Given the description of an element on the screen output the (x, y) to click on. 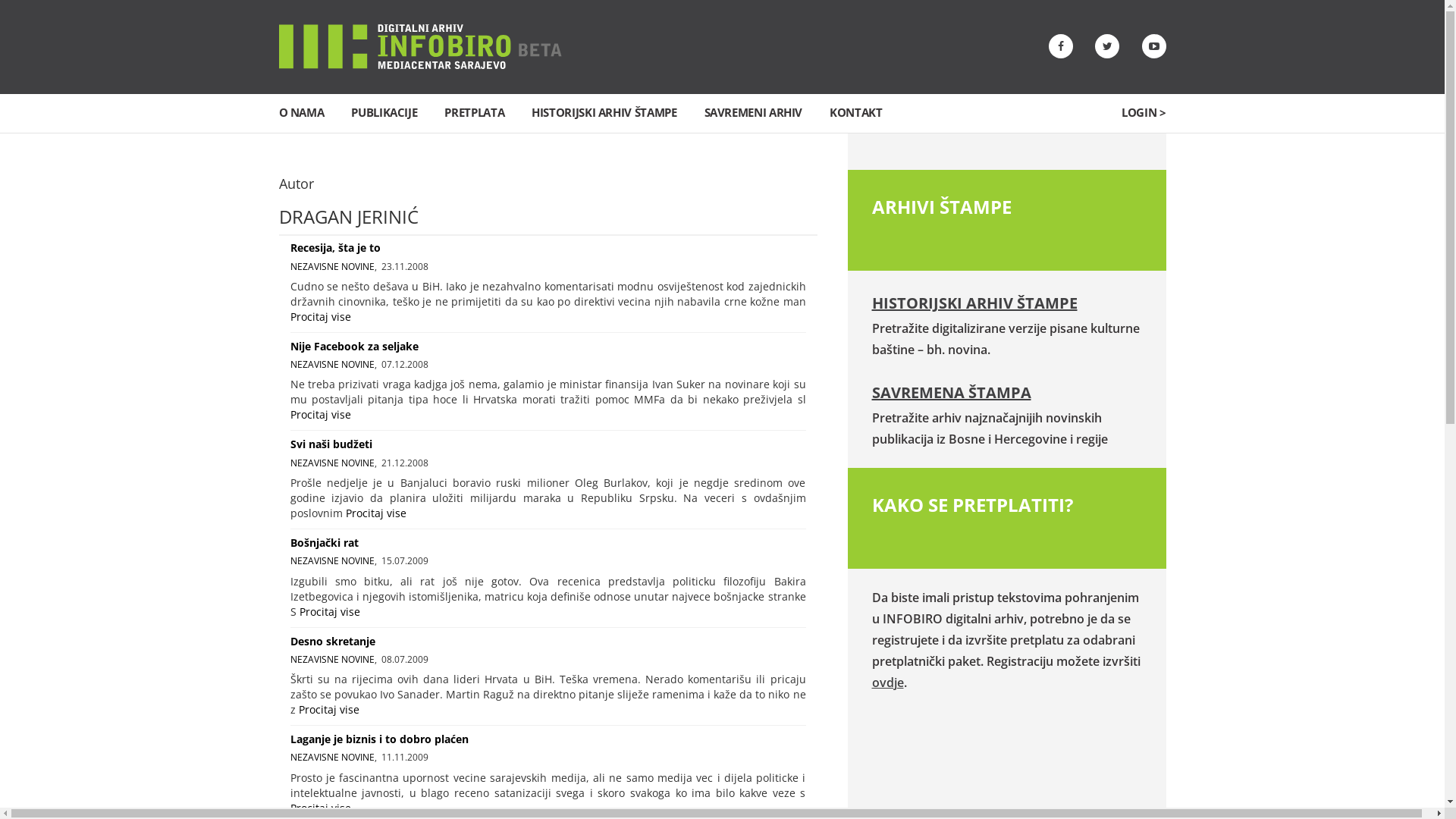
ovdje Element type: text (887, 682)
NEZAVISNE NOVINE Element type: text (331, 363)
KONTAKT Element type: text (855, 111)
Procitaj vise Element type: text (319, 414)
Youtube Element type: hover (1154, 46)
Infobiro mediacenter Sarajevo Element type: hover (420, 45)
Procitaj vise Element type: text (319, 807)
Twitter Element type: hover (1107, 46)
O NAMA Element type: text (301, 111)
Nije Facebook za seljake Element type: text (353, 345)
Facebook Element type: hover (1060, 46)
NEZAVISNE NOVINE Element type: text (331, 560)
PRETPLATA Element type: text (474, 111)
PUBLIKACIJE Element type: text (384, 111)
NEZAVISNE NOVINE Element type: text (331, 756)
NEZAVISNE NOVINE Element type: text (331, 462)
Procitaj vise Element type: text (319, 316)
NEZAVISNE NOVINE Element type: text (331, 266)
Procitaj vise Element type: text (328, 709)
Procitaj vise Element type: text (328, 610)
NEZAVISNE NOVINE Element type: text (331, 658)
LOGIN > Element type: text (1143, 111)
Desno skretanje Element type: text (331, 640)
SAVREMENI ARHIV Element type: text (753, 111)
Procitaj vise Element type: text (375, 512)
